Given the description of an element on the screen output the (x, y) to click on. 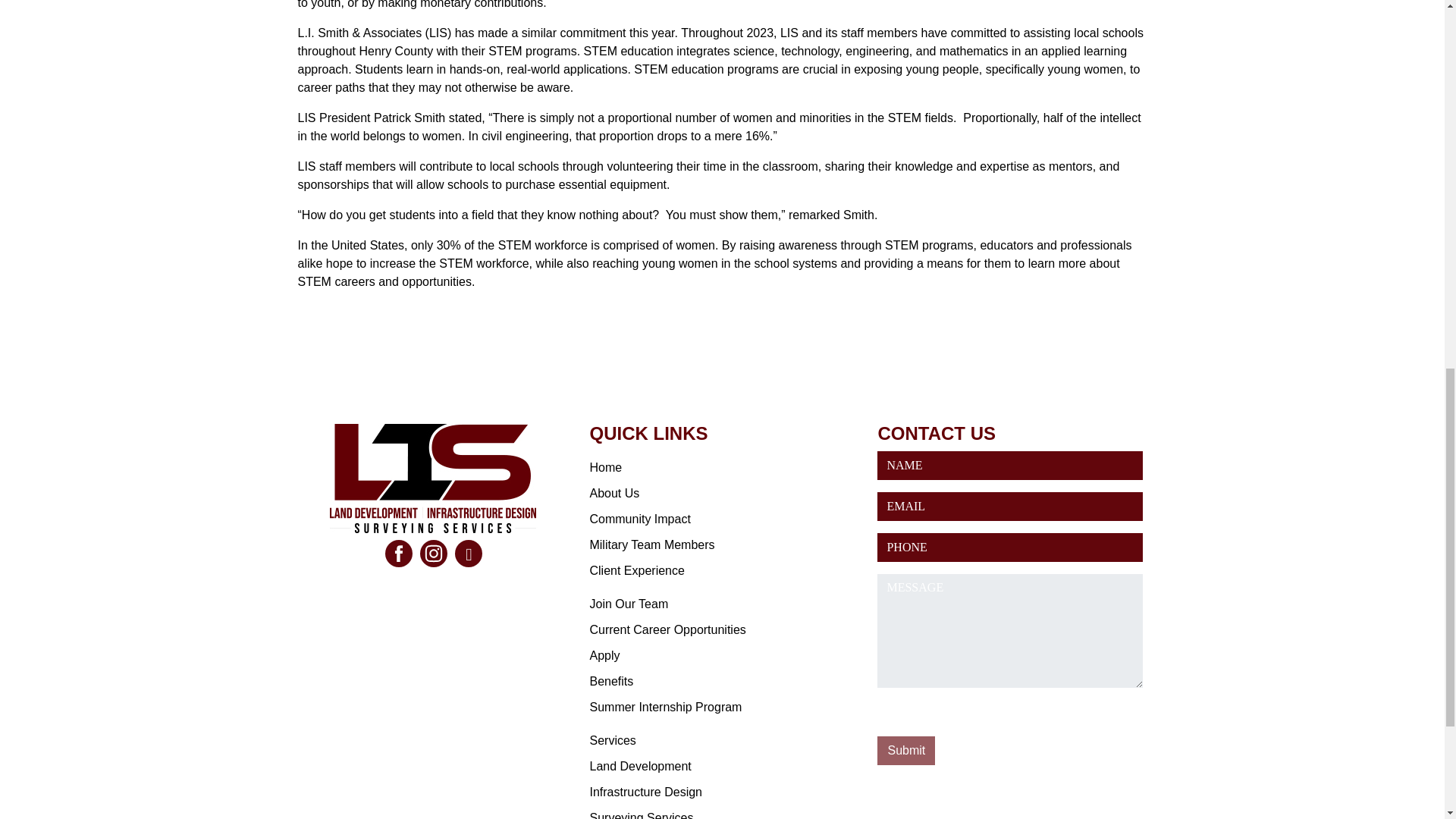
Join Our Team (628, 603)
Apply (604, 655)
About Us (614, 492)
Submit (905, 750)
Benefits (611, 680)
Home (605, 467)
Current Career Opportunities (667, 629)
Military Team Members (651, 544)
Services (611, 739)
Community Impact (639, 518)
Land Development (639, 766)
Summer Internship Program (665, 707)
Client Experience (636, 570)
